Given the description of an element on the screen output the (x, y) to click on. 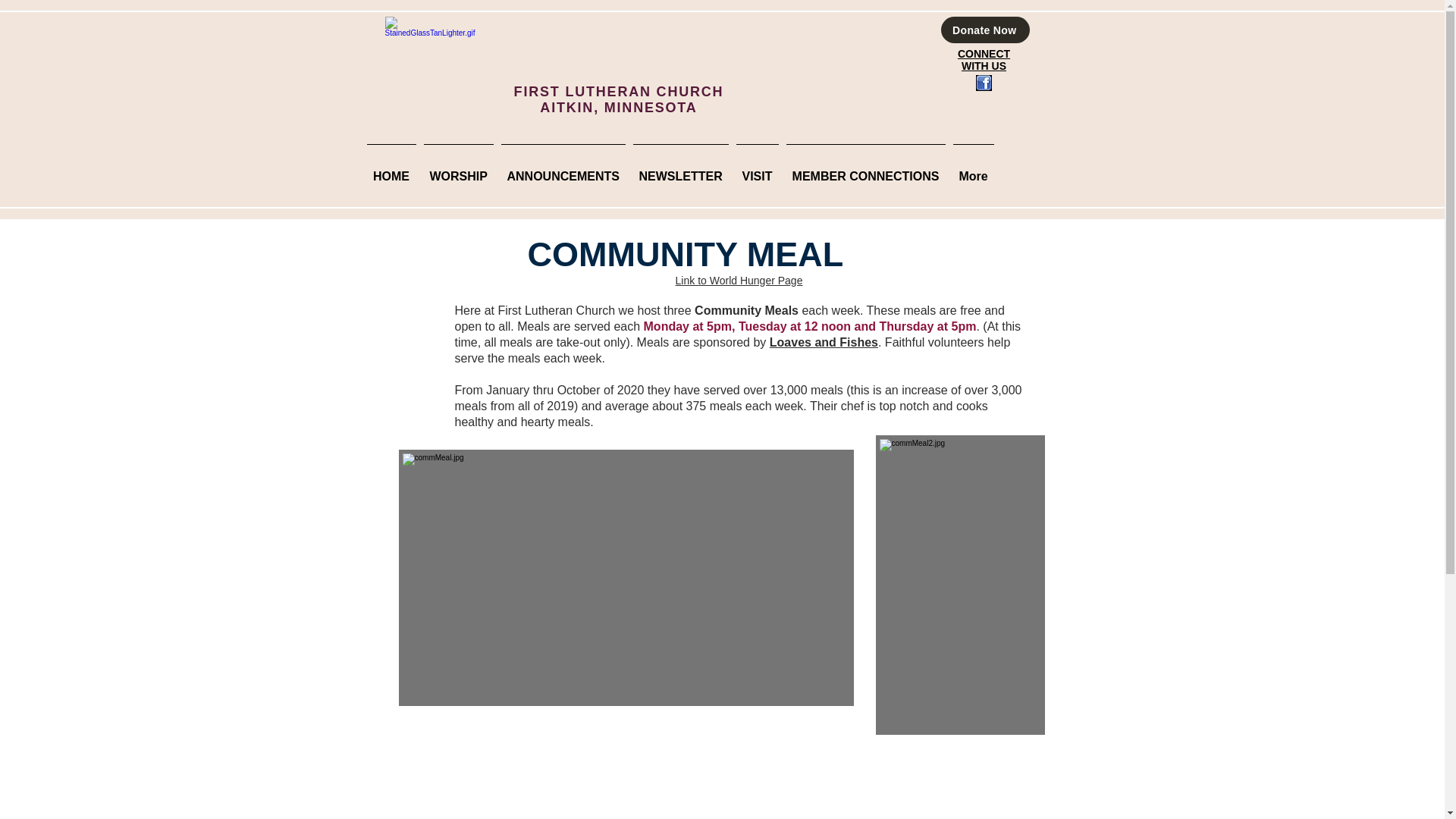
VISIT (757, 169)
facebookIcon.png (983, 82)
Donate Now (984, 29)
Link to World Hunger Page (739, 280)
ANNOUNCEMENTS (562, 169)
NEWSLETTER (680, 169)
CONNECT WITH US (984, 59)
HOME (390, 169)
FIRST LUTHERAN  (584, 91)
WORSHIP (458, 169)
